Given the description of an element on the screen output the (x, y) to click on. 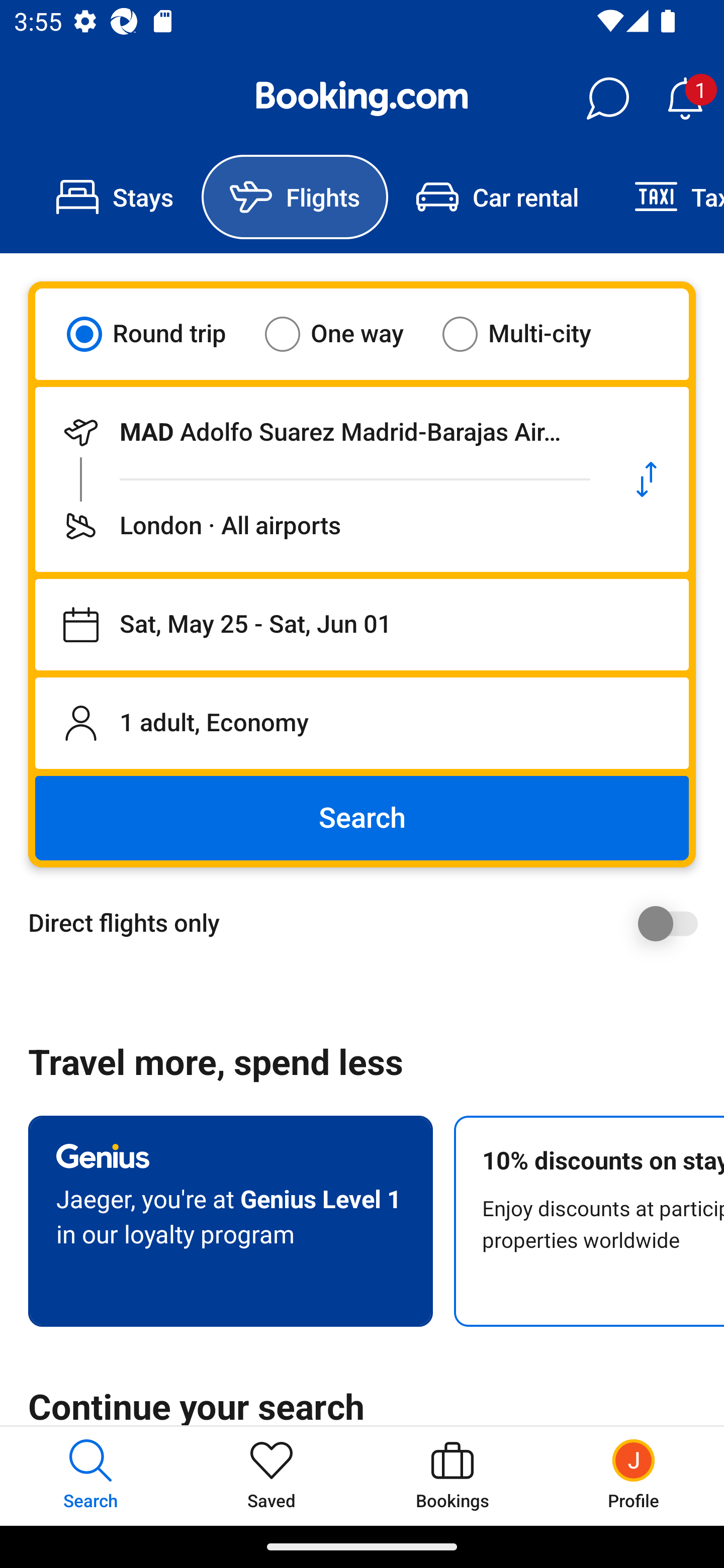
Messages (607, 98)
Notifications (685, 98)
Stays (114, 197)
Flights (294, 197)
Car rental (497, 197)
Taxi (665, 197)
One way (346, 333)
Multi-city (528, 333)
Swap departure location and destination (646, 479)
Flying to London · All airports (319, 525)
Departing on Sat, May 25, returning on Sat, Jun 01 (361, 624)
1 adult, Economy (361, 722)
Search (361, 818)
Direct flights only (369, 923)
Saved (271, 1475)
Bookings (452, 1475)
Profile (633, 1475)
